Given the description of an element on the screen output the (x, y) to click on. 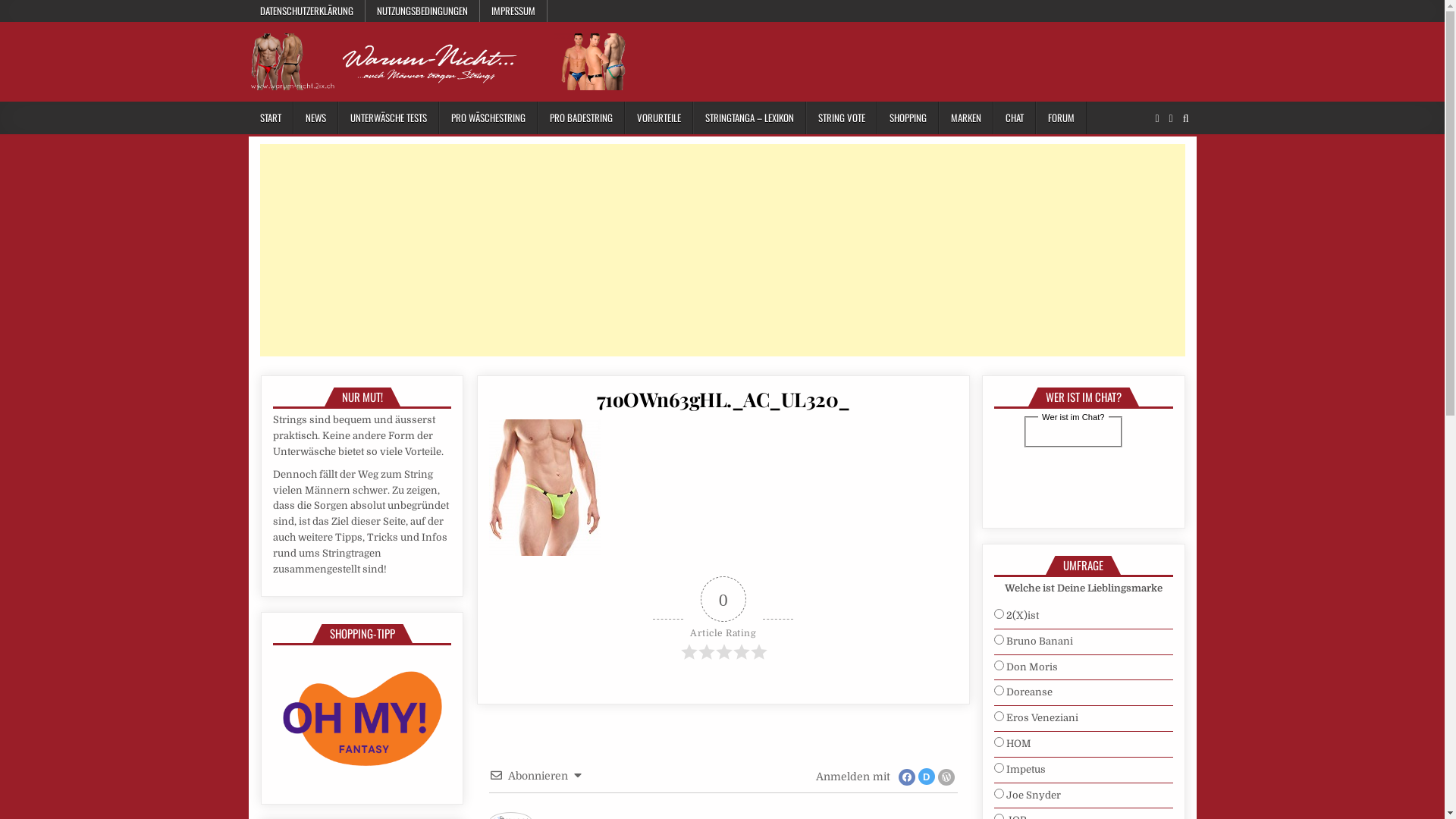
Tumblr Element type: hover (1171, 118)
VORURTEILE Element type: text (658, 117)
PRO BADESTRING Element type: text (580, 117)
SHOPPING Element type: text (907, 117)
START Element type: text (270, 117)
Twitter Element type: hover (1156, 118)
NEWS Element type: text (314, 117)
IMPRESSUM Element type: text (512, 10)
71oOWn63gHL._AC_UL320_ Element type: text (723, 398)
NUTZUNGSBEDINGUNGEN Element type: text (422, 10)
MARKEN Element type: text (965, 117)
FORUM Element type: text (1060, 117)
STRING VOTE Element type: text (840, 117)
Search Element type: hover (1186, 118)
Advertisement Element type: hover (714, 250)
CHAT Element type: text (1014, 117)
